Given the description of an element on the screen output the (x, y) to click on. 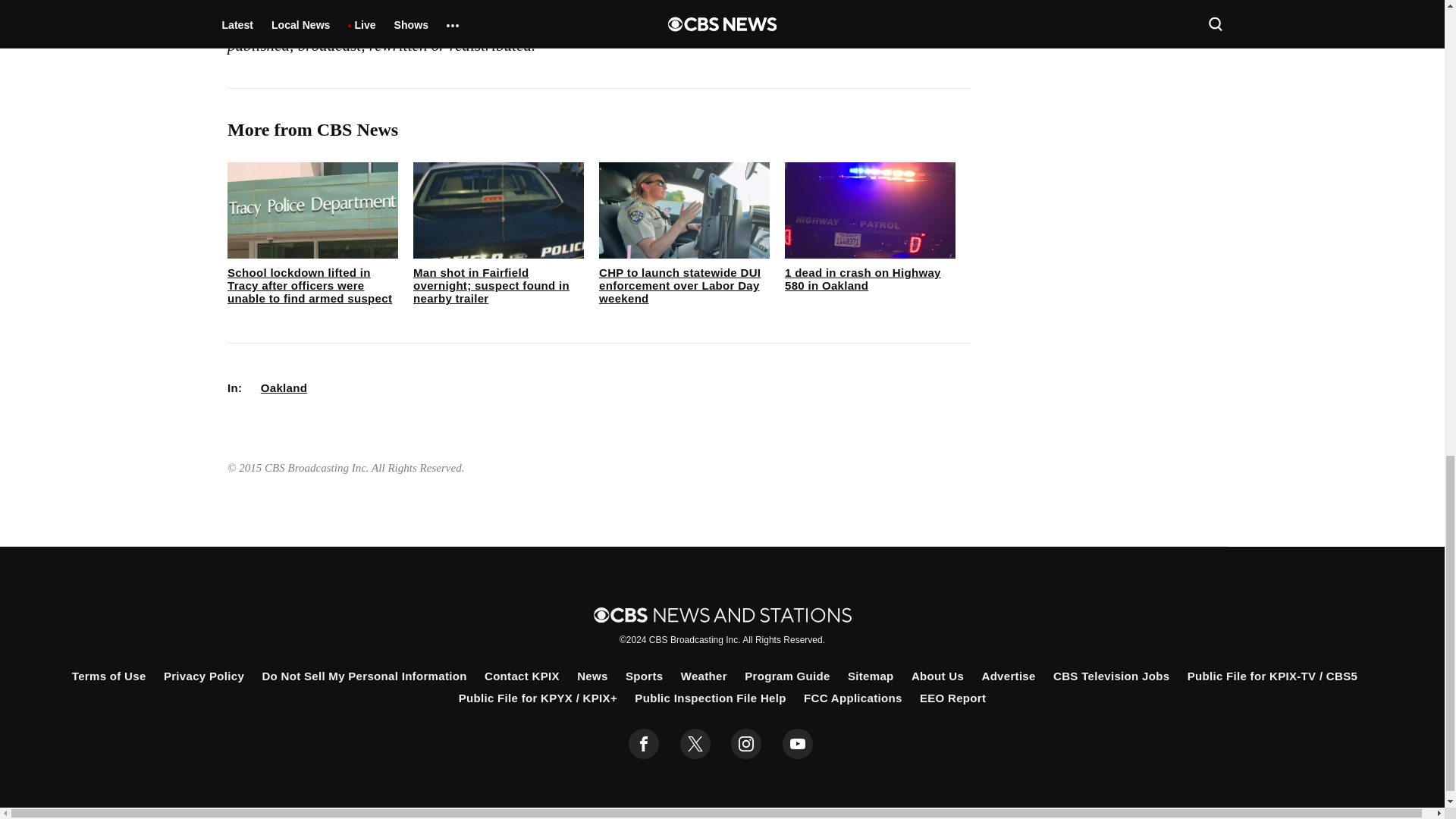
youtube (797, 743)
facebook (643, 743)
twitter (694, 743)
instagram (745, 743)
